Given the description of an element on the screen output the (x, y) to click on. 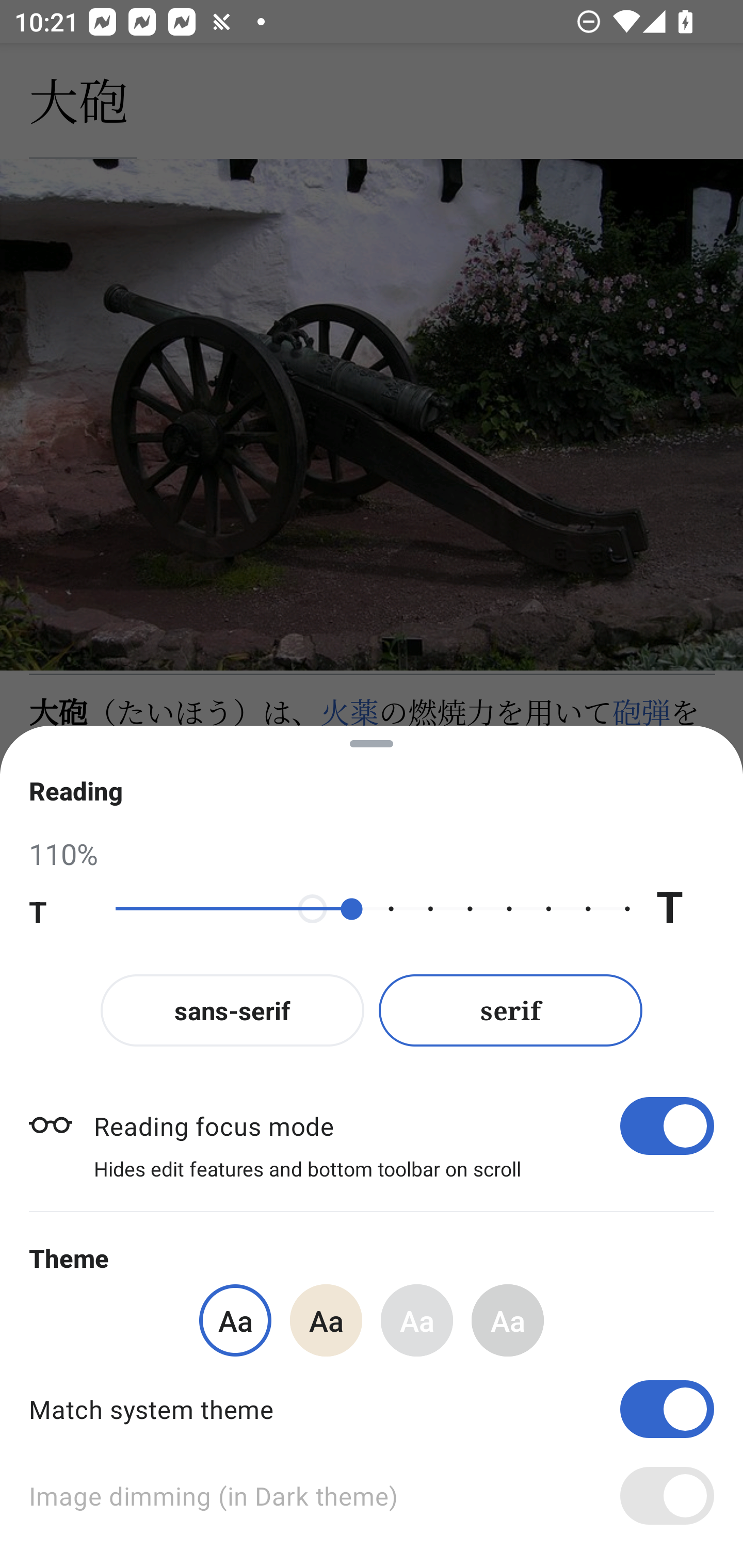
T Decrease text size (57, 909)
T Increase text size (685, 909)
sans-serif (232, 1010)
serif (510, 1010)
Reading focus mode (403, 1125)
Aa (325, 1320)
Aa (416, 1320)
Aa (507, 1320)
Match system theme (371, 1408)
Image dimming (in Dark theme) (371, 1495)
